Given the description of an element on the screen output the (x, y) to click on. 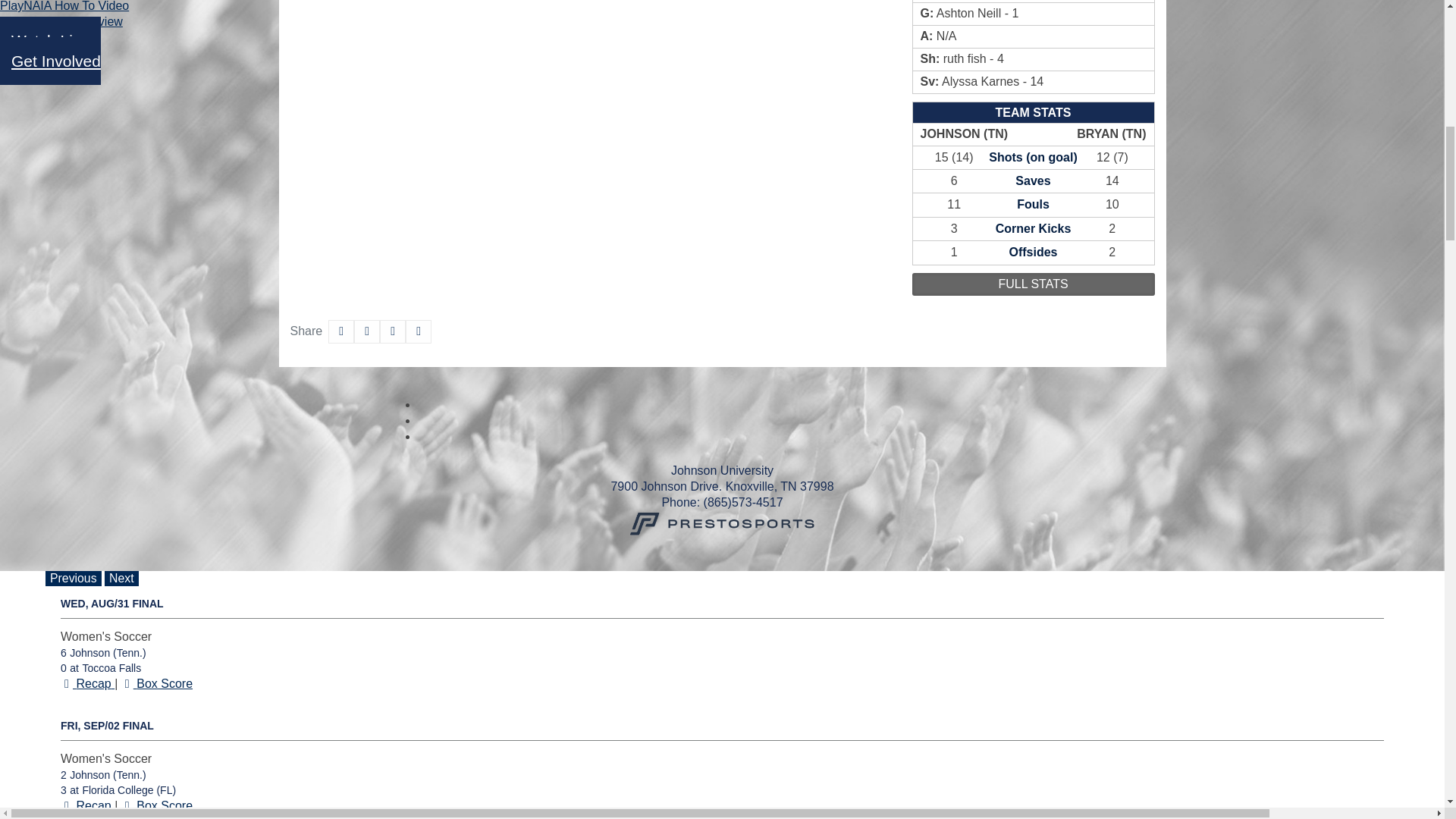
Box Score (126, 805)
Print (418, 331)
Box Score (126, 683)
Recap (66, 805)
Recap (66, 683)
